Given the description of an element on the screen output the (x, y) to click on. 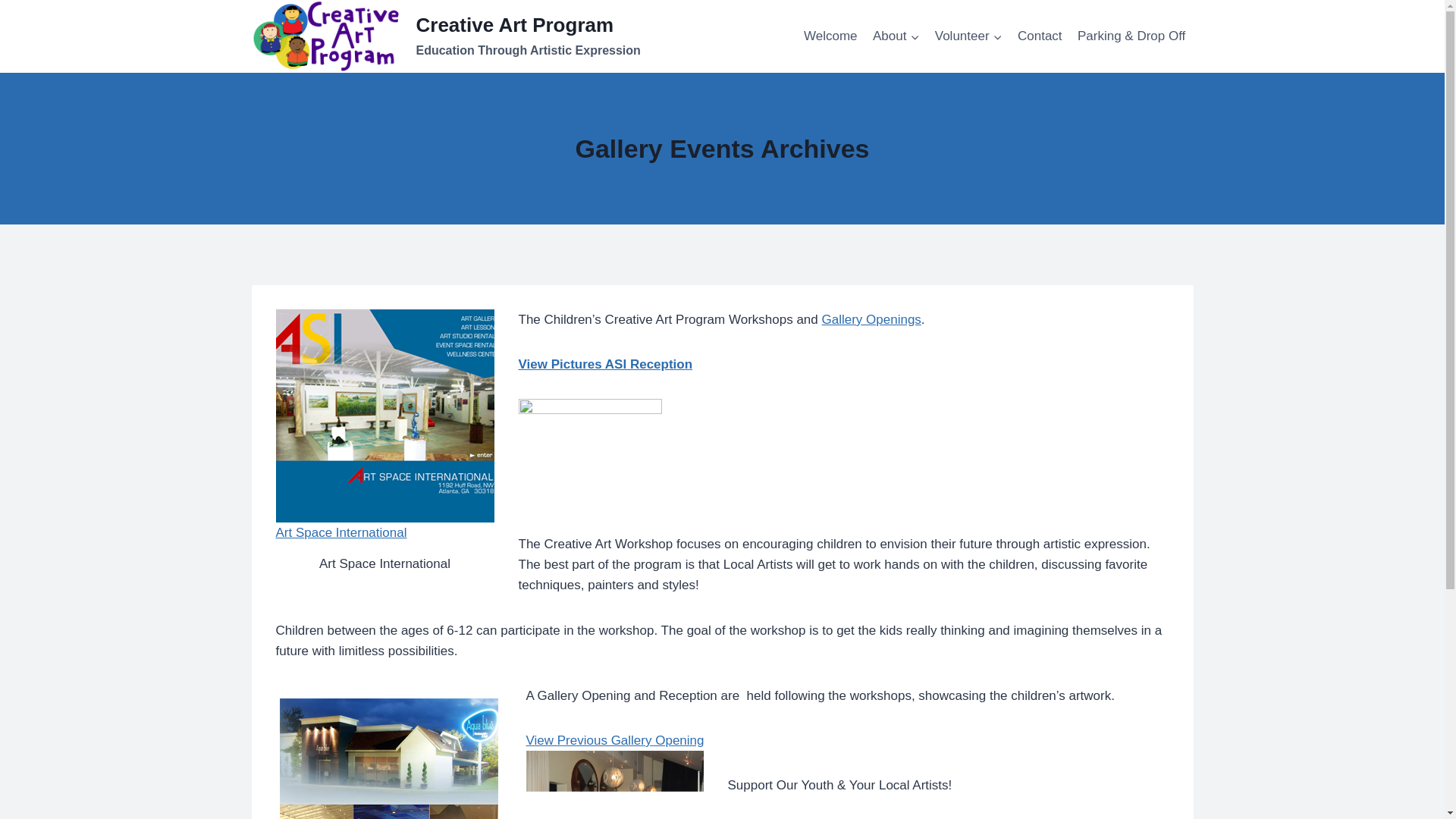
Aqua Blue Gallery Opening (614, 785)
About (895, 36)
View Previous Gallery Opening (614, 740)
Contact (445, 36)
Healthy Notions Hosts the "Creative Art Program" (1040, 36)
Welcome (590, 446)
Volunteer (830, 36)
View Pictures ASI Reception (968, 36)
Art Space International (605, 364)
